Given the description of an element on the screen output the (x, y) to click on. 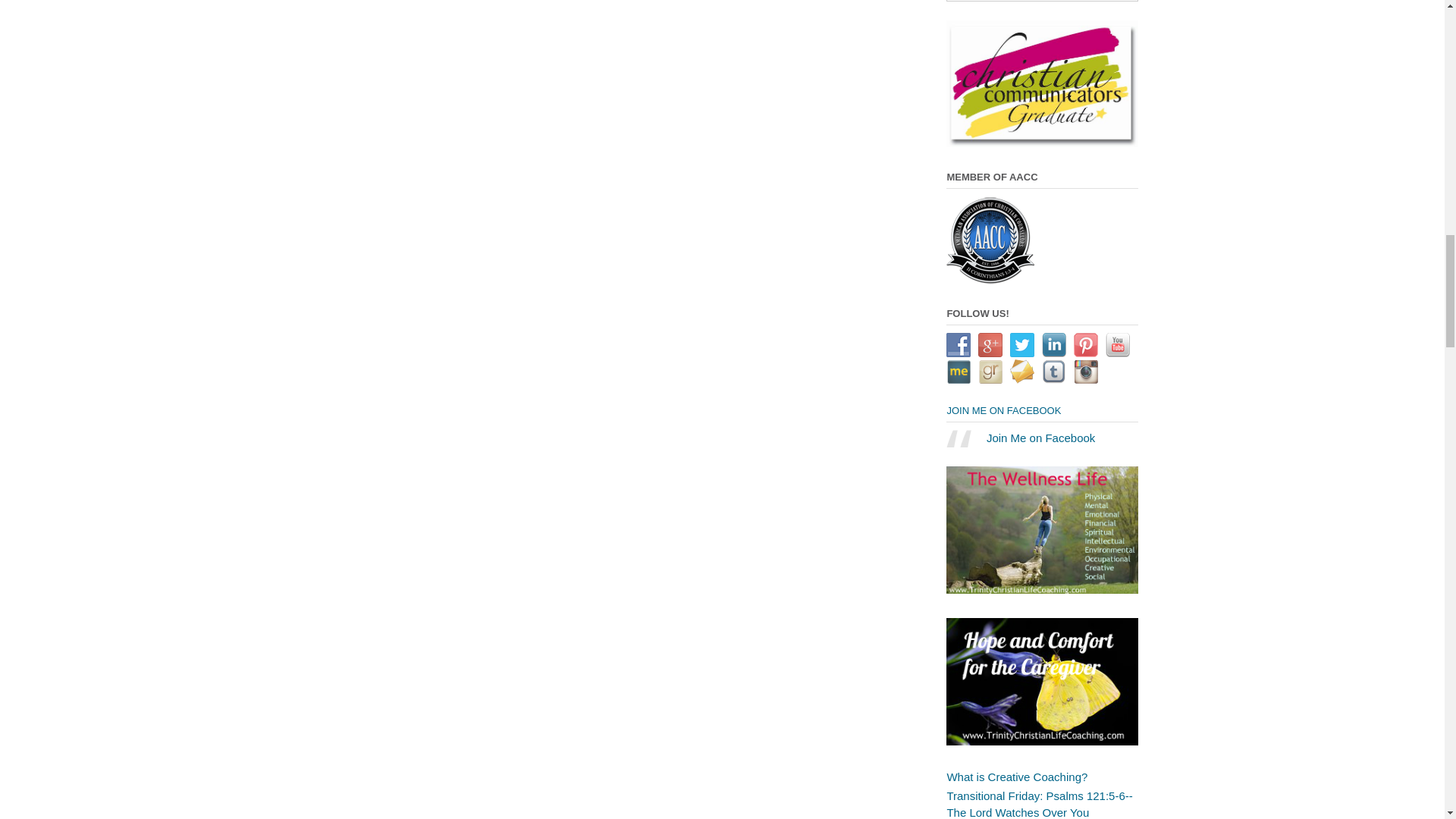
Follow Us on E-mail (1021, 371)
Follow Us on Pinterest (1085, 344)
Follow Us on YouTube (1117, 344)
Follow Us on Tumblr (1053, 371)
Follow Us on Twitter (1021, 344)
Follow Us on Facebook (958, 344)
Follow Us on Goodreads (990, 371)
Follow Us on LinkedIn (1053, 344)
Follow Us on About.me (958, 371)
Follow Us on Instagram (1085, 371)
